Given the description of an element on the screen output the (x, y) to click on. 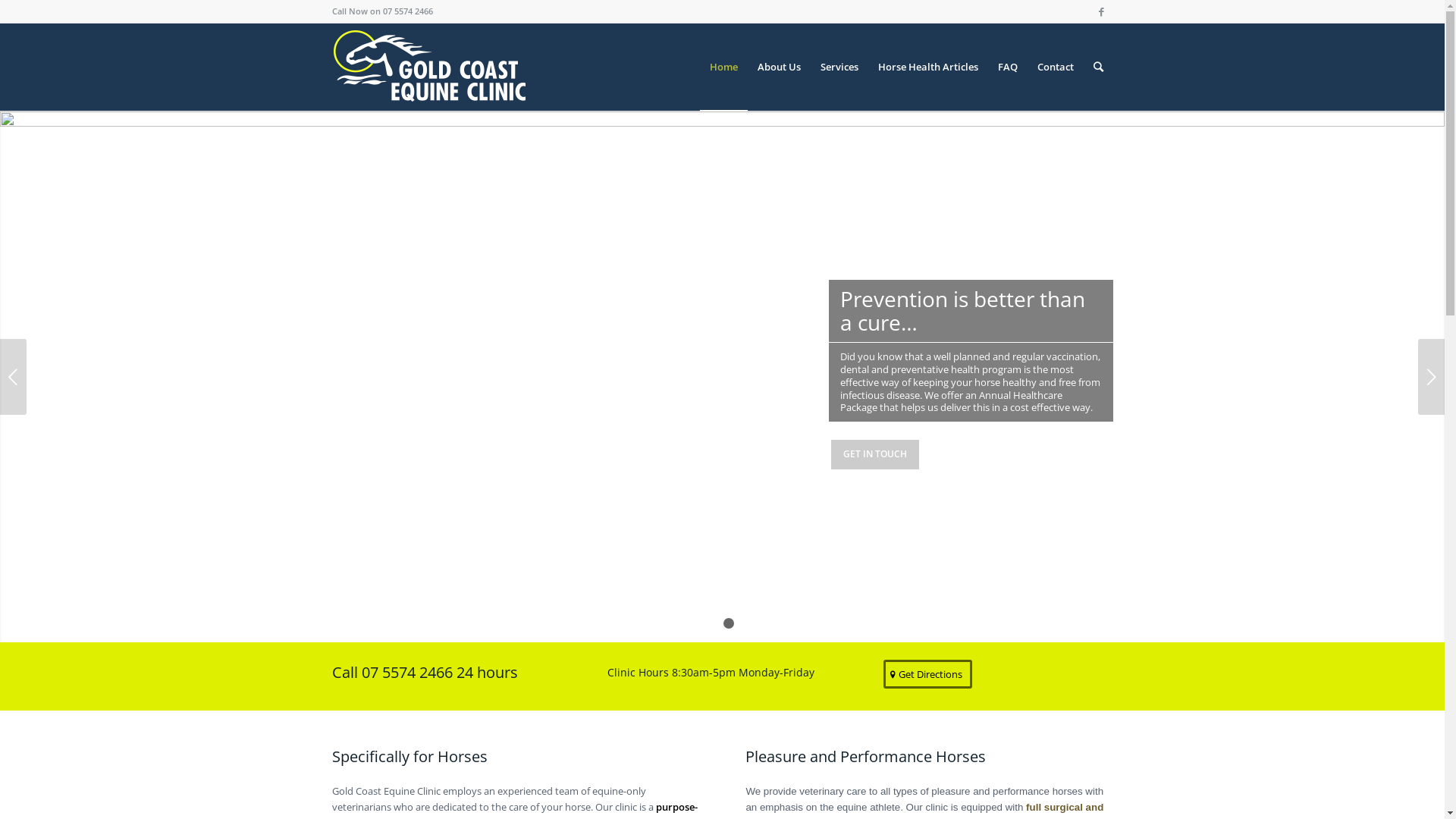
Previous Element type: text (13, 376)
Home Element type: text (722, 66)
banner-1 Element type: hover (722, 427)
About Us Element type: text (778, 66)
FAQ Element type: text (1006, 66)
Next Element type: text (1431, 376)
Facebook Element type: hover (1101, 11)
Services Element type: text (838, 66)
Contact Element type: text (1054, 66)
Horse Health Articles Element type: text (927, 66)
1 Element type: text (716, 623)
Get Directions Element type: text (927, 673)
07 5574 2466 Element type: text (407, 10)
2 Element type: text (728, 623)
GET IN TOUCH Element type: text (874, 453)
